Given the description of an element on the screen output the (x, y) to click on. 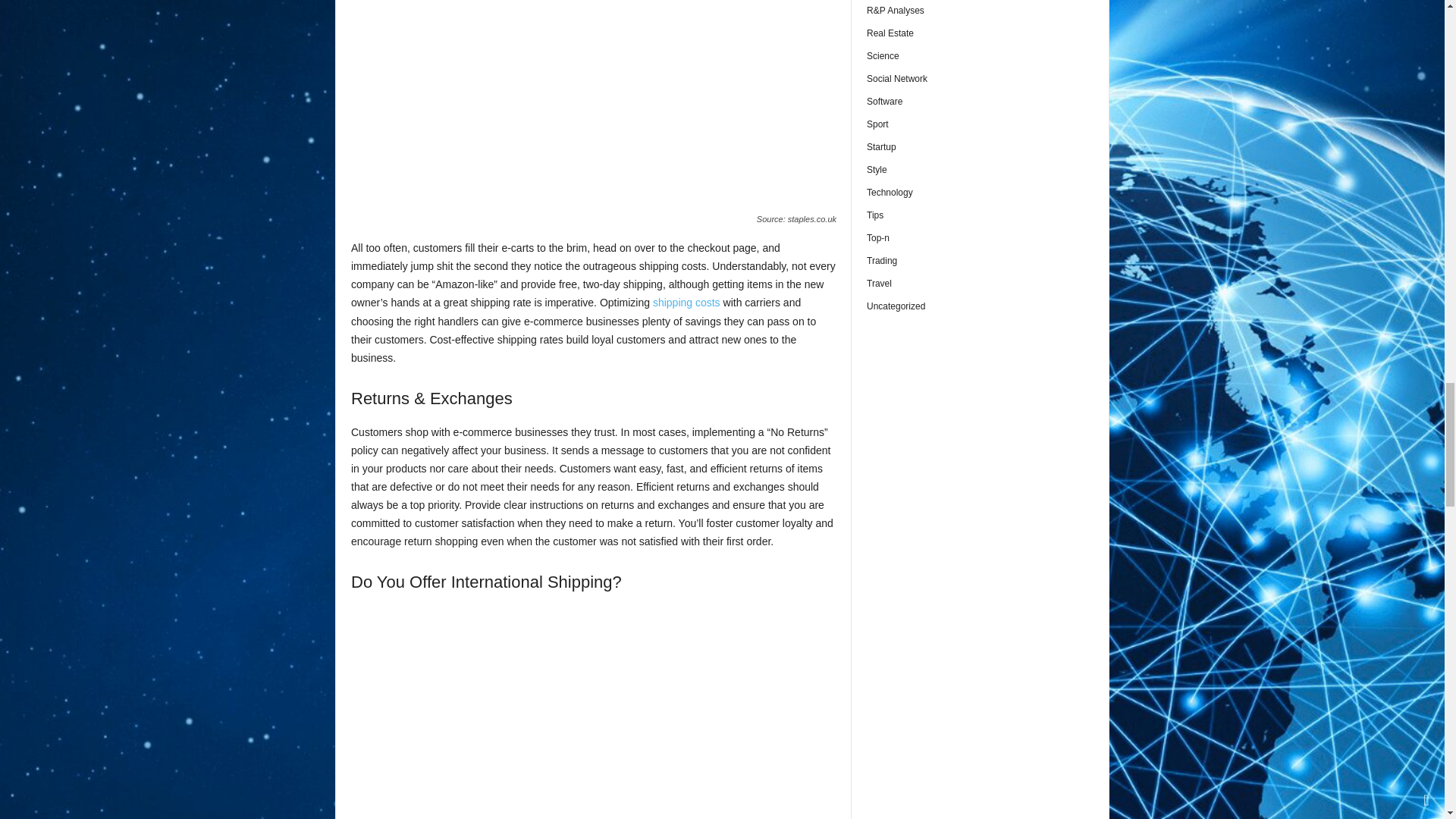
shipping costs (686, 302)
